Given the description of an element on the screen output the (x, y) to click on. 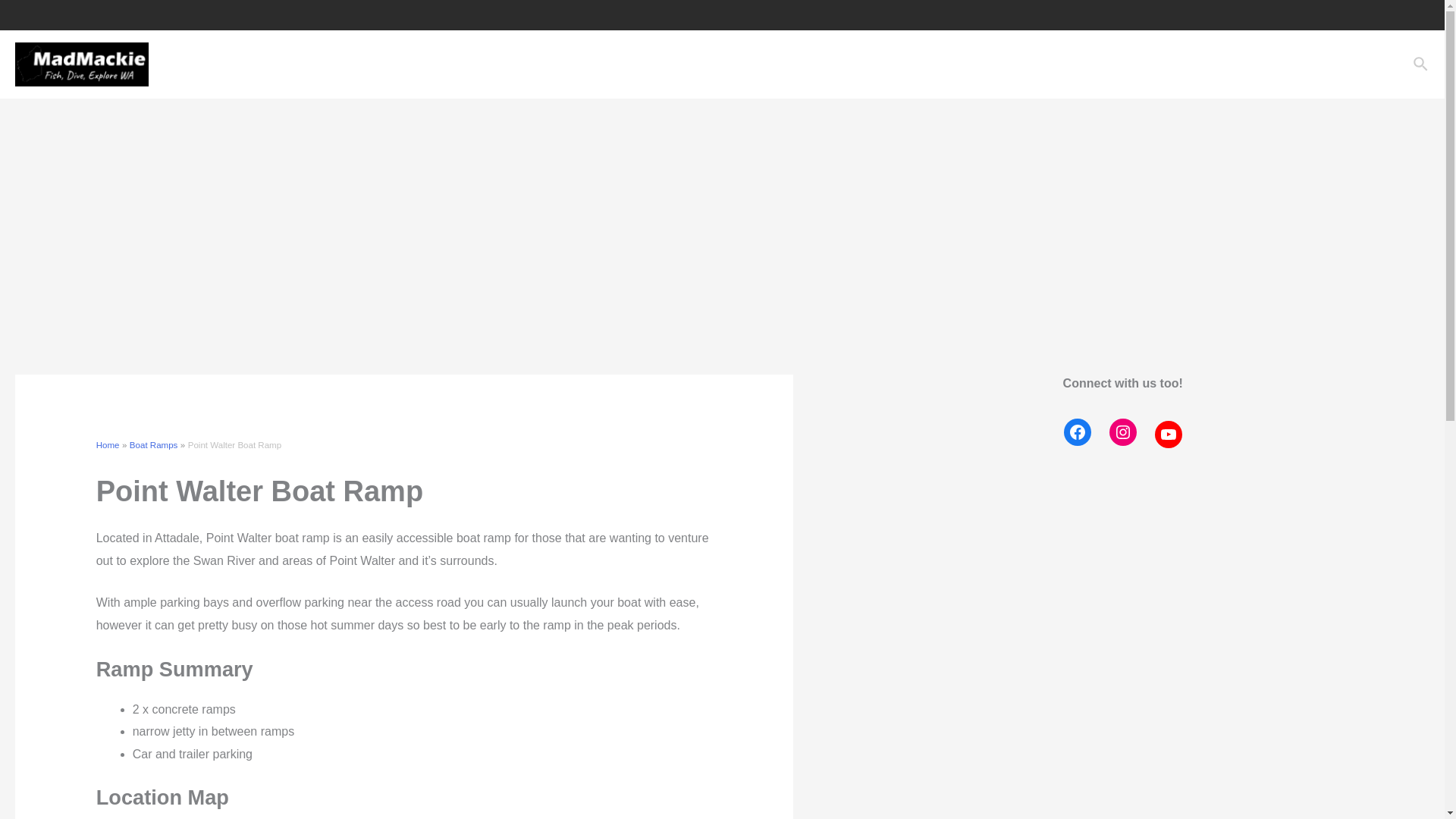
HOME (753, 64)
EXPLORE (819, 64)
FISHING (898, 64)
SPEARFISHING (991, 64)
